Given the description of an element on the screen output the (x, y) to click on. 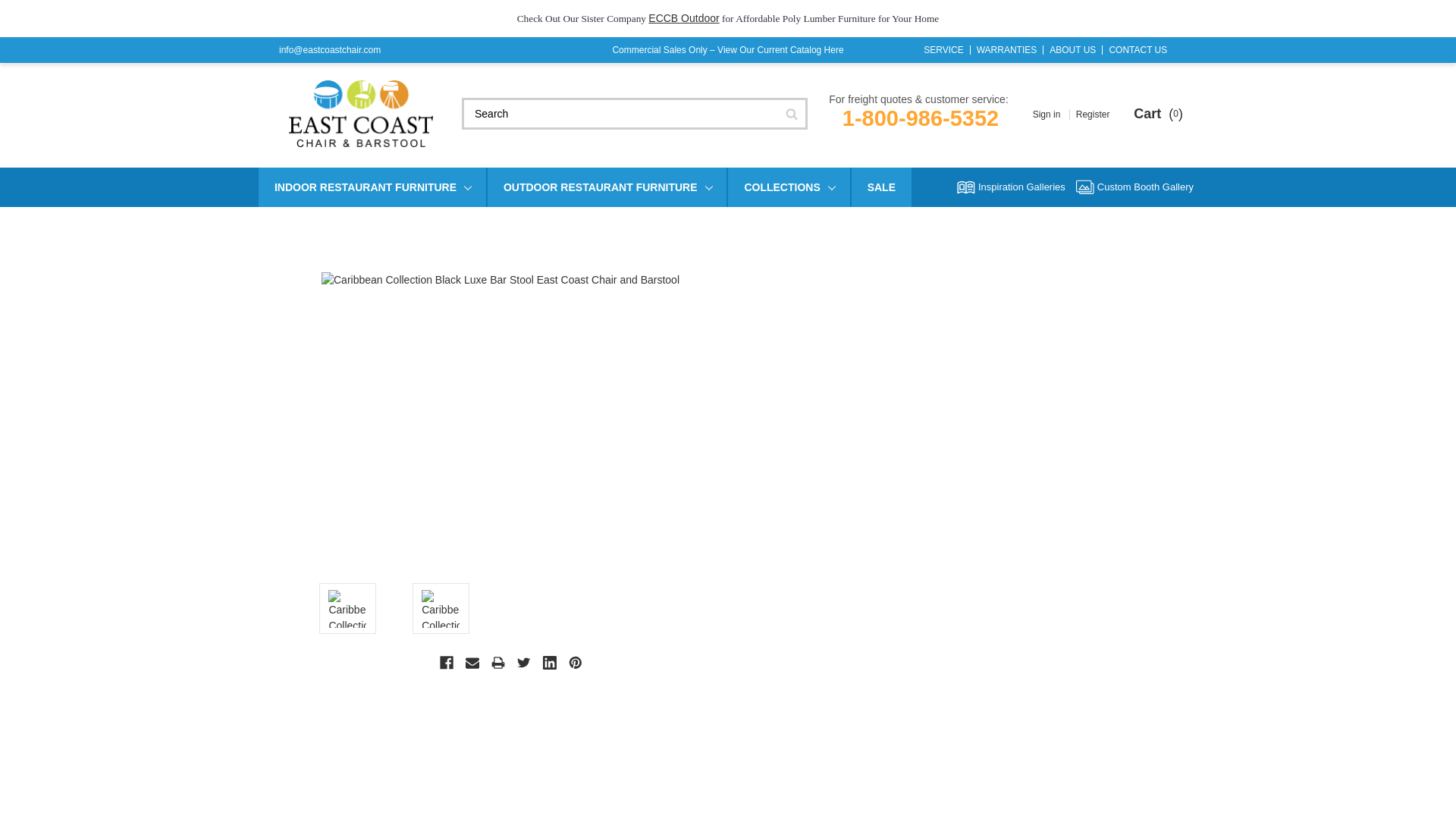
East Coast Chair and Barstool (360, 113)
CONTACT US (1137, 49)
SERVICE (943, 49)
OUTDOOR RESTAURANT FURNITURE (606, 187)
INDOOR RESTAURANT FURNITURE (372, 187)
View Our Current Catalog Here (780, 50)
WARRANTIES (1007, 49)
ECCB Outdoor (683, 18)
Register (1093, 113)
ABOUT US (1072, 49)
